Given the description of an element on the screen output the (x, y) to click on. 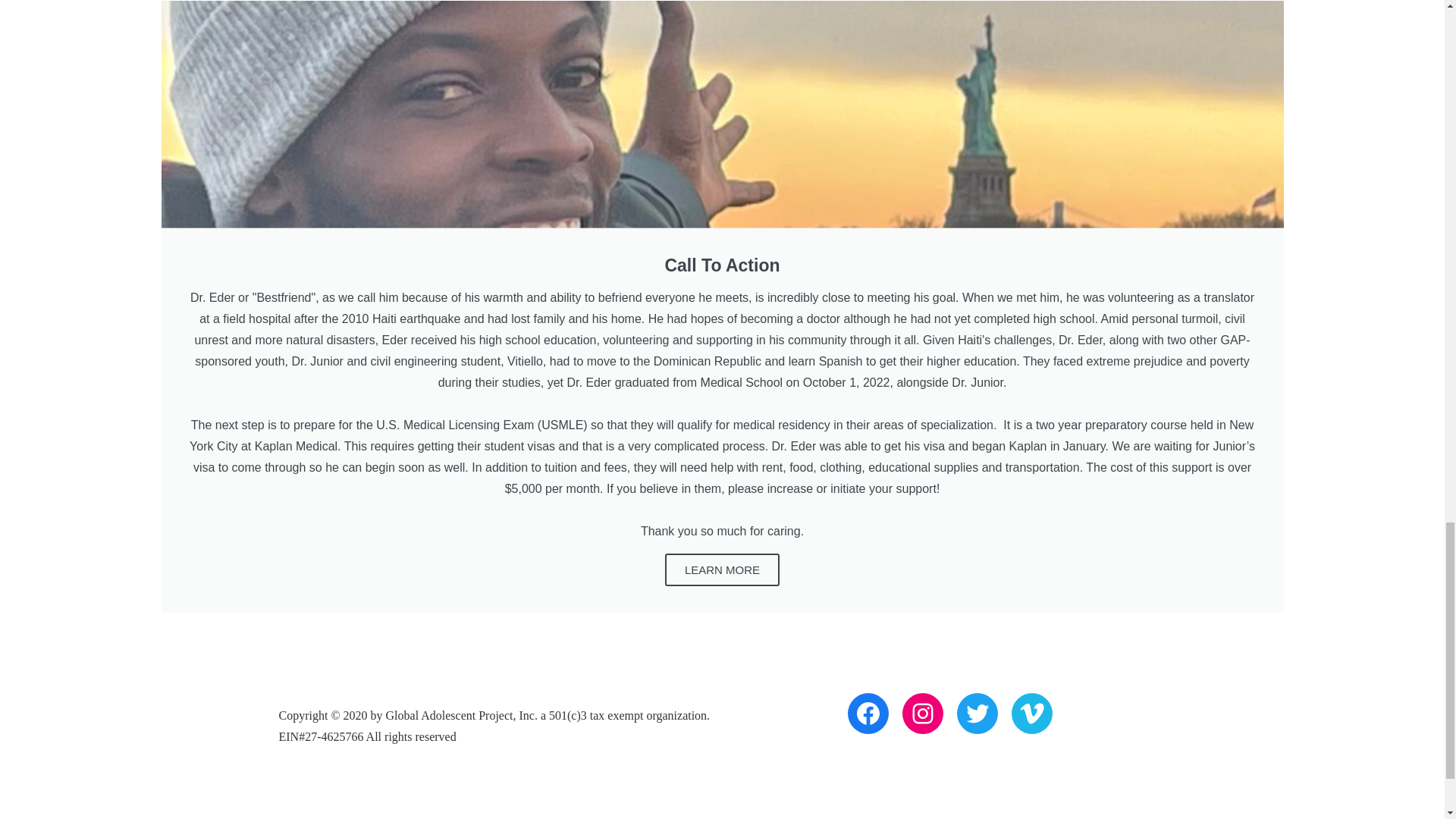
LEARN MORE (721, 569)
